Given the description of an element on the screen output the (x, y) to click on. 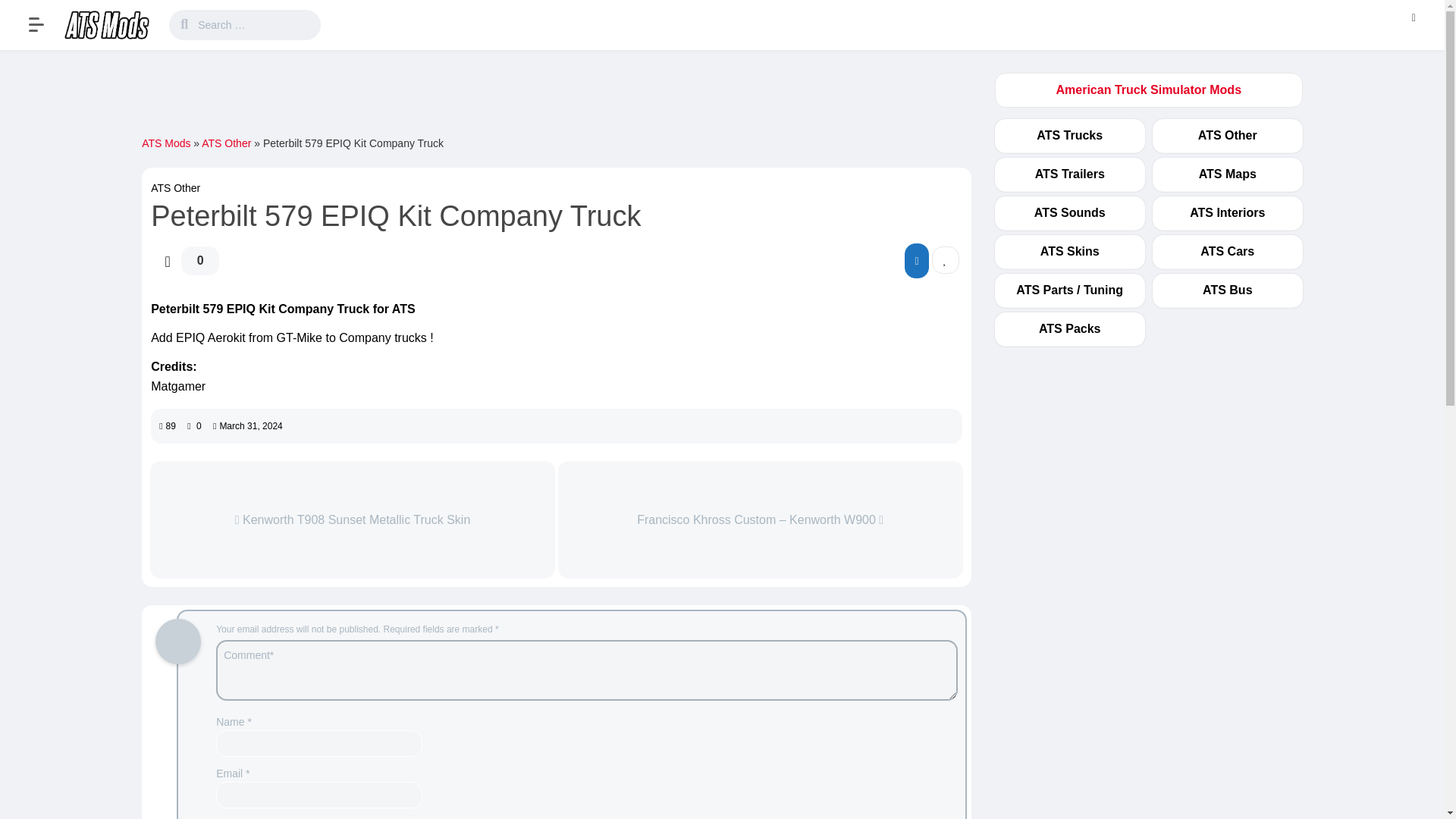
ATS Other (175, 187)
Search for: (256, 24)
ATS Mods (107, 24)
ATS Trailers (1070, 173)
ATS Trucks (1069, 134)
Kenworth T908 Sunset Metallic Truck Skin (352, 519)
ATS Other (226, 143)
ATS Mods (165, 143)
American Truck Simulator Mods (1149, 89)
